Given the description of an element on the screen output the (x, y) to click on. 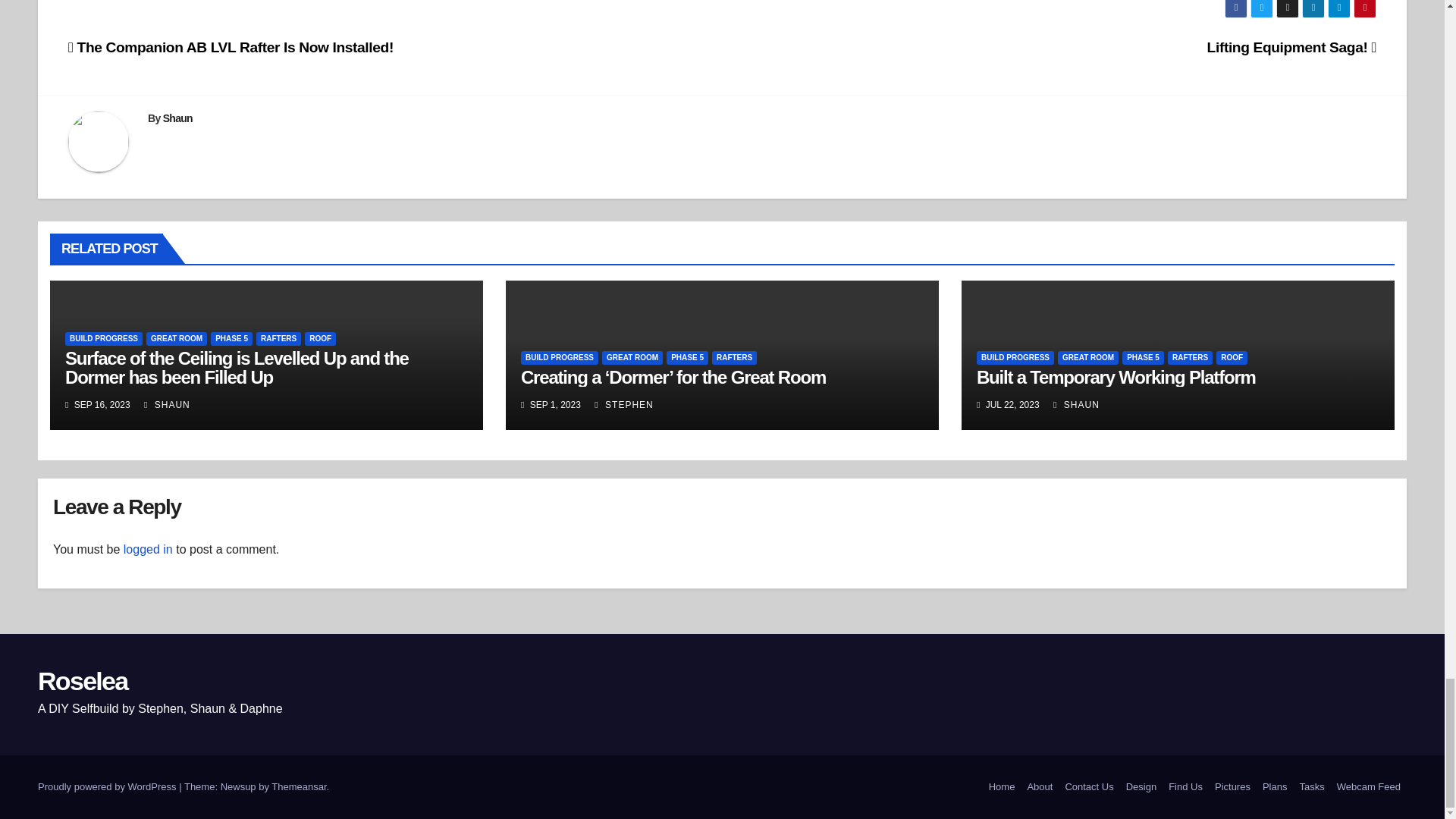
Home (1002, 786)
Permalink to: Built a Temporary Working Platform (1115, 376)
